Given the description of an element on the screen output the (x, y) to click on. 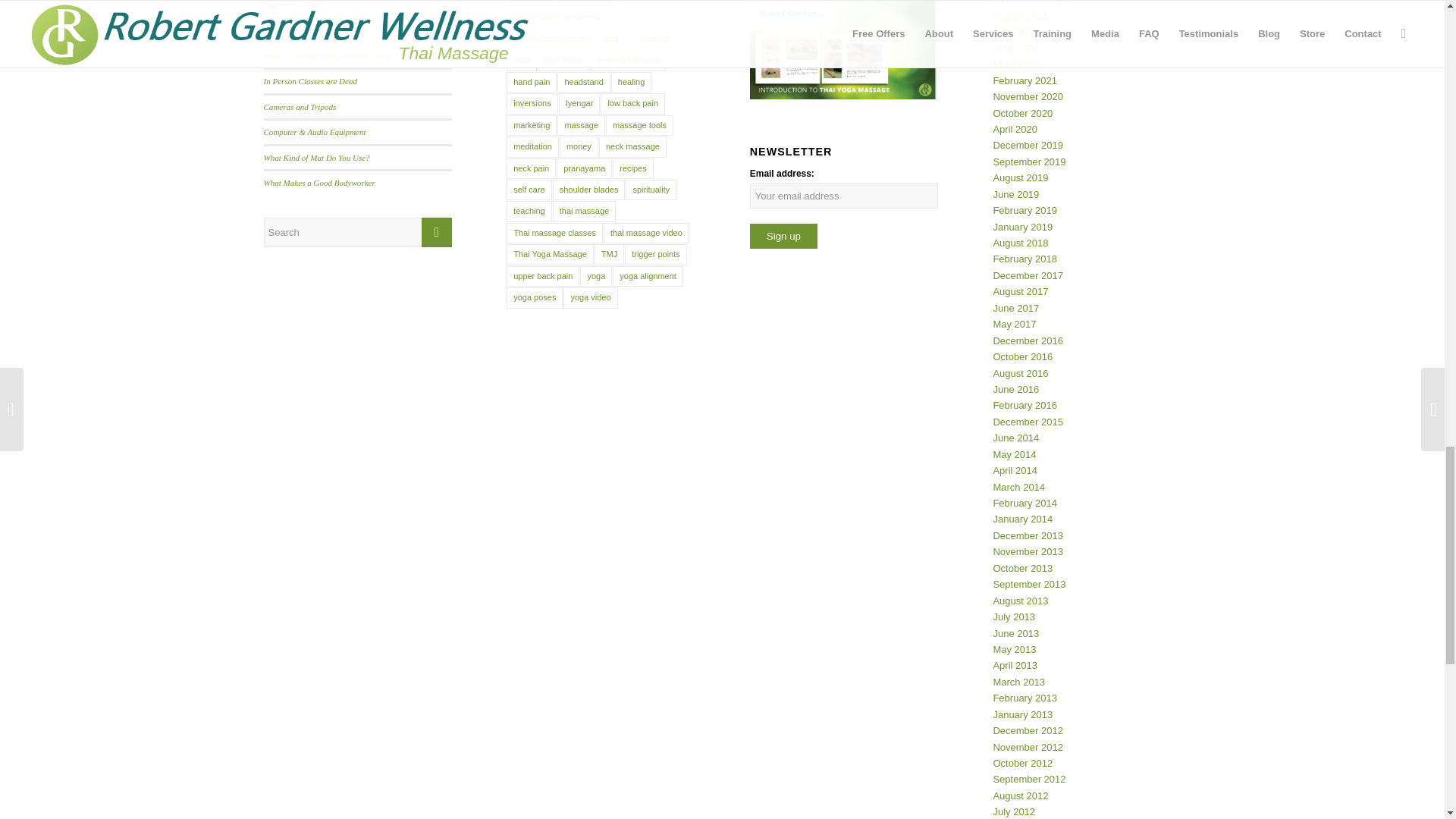
Sign up (782, 235)
